Given the description of an element on the screen output the (x, y) to click on. 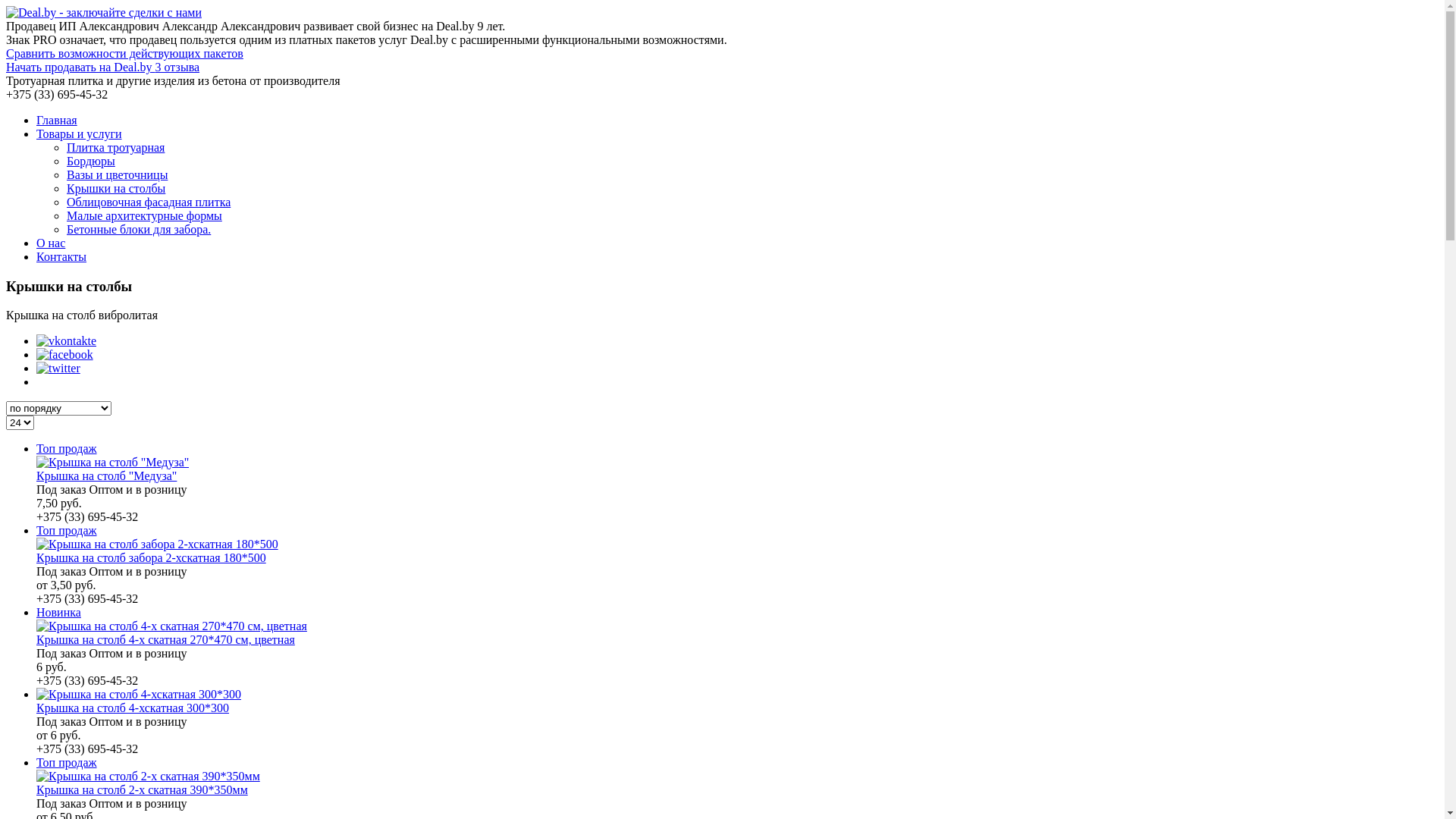
twitter Element type: hover (58, 367)
facebook Element type: hover (64, 354)
